Given the description of an element on the screen output the (x, y) to click on. 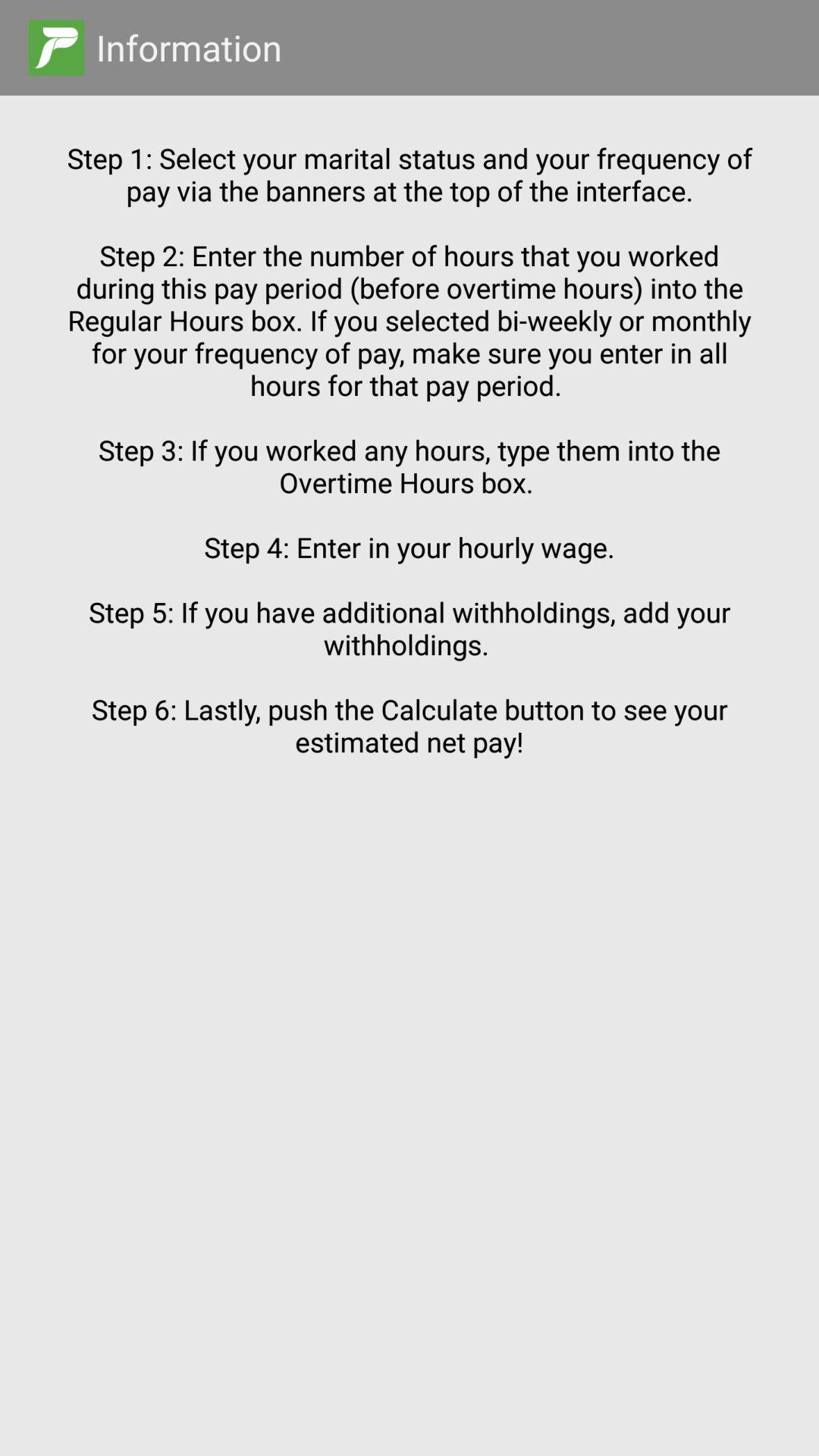
turn off the step 1 select item (409, 747)
